Given the description of an element on the screen output the (x, y) to click on. 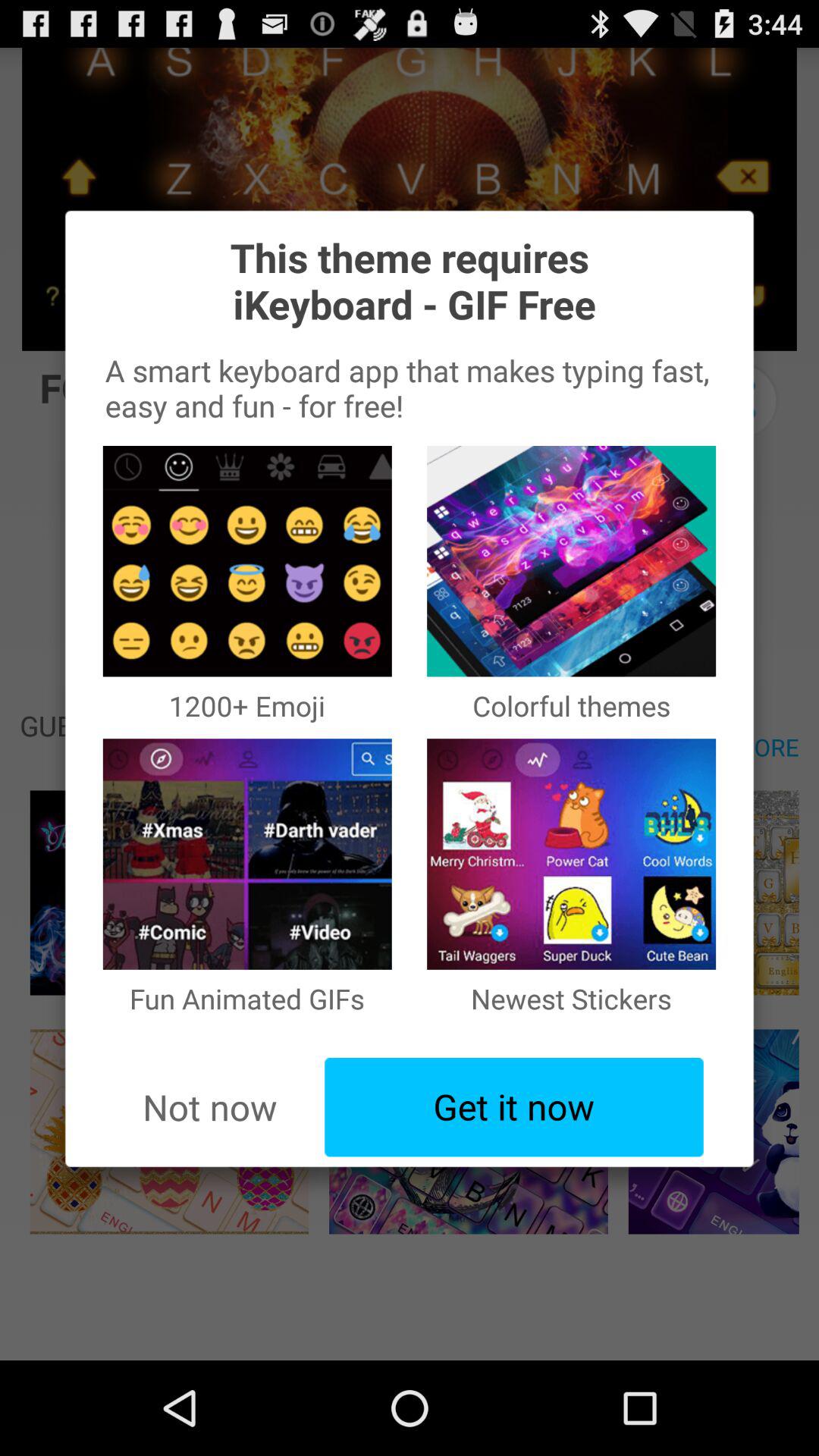
turn on the icon next to get it now button (209, 1106)
